Given the description of an element on the screen output the (x, y) to click on. 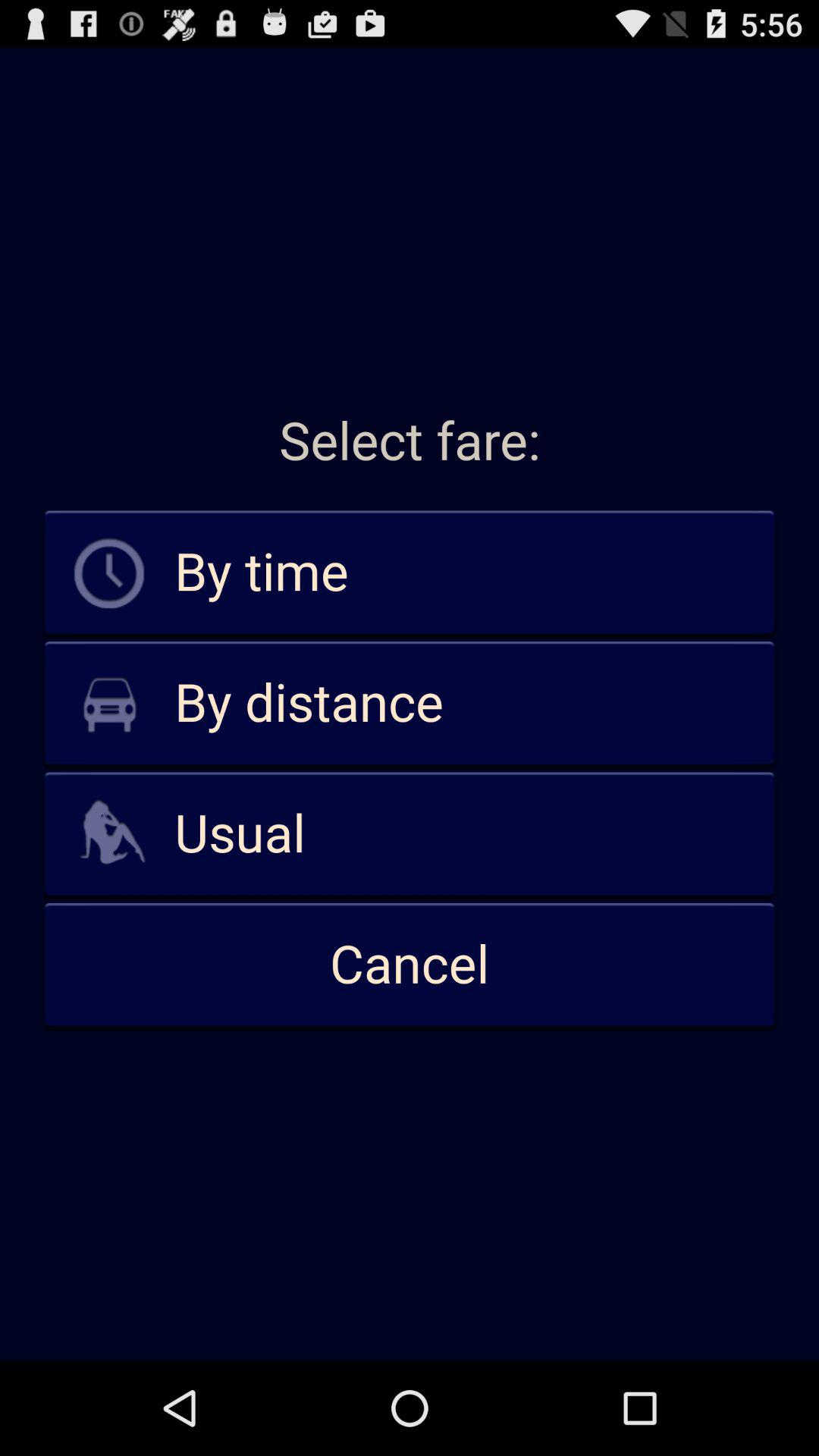
launch the item above by distance (409, 572)
